Given the description of an element on the screen output the (x, y) to click on. 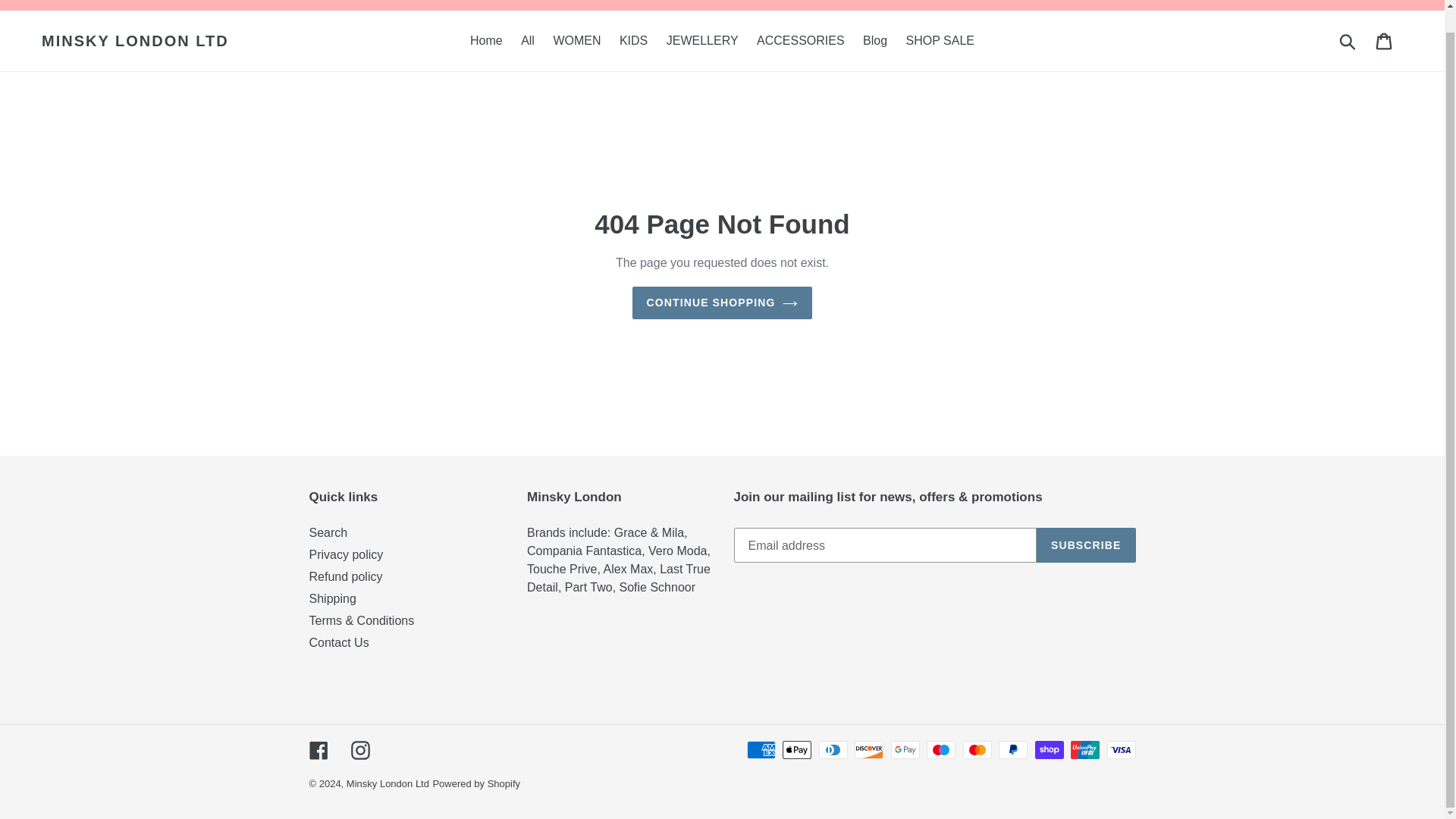
SUBSCRIBE (1085, 544)
Submit (1348, 40)
Blog (875, 40)
Shipping (332, 598)
KIDS (633, 40)
Facebook (318, 749)
Refund policy (345, 576)
MINSKY LONDON LTD (135, 40)
Contact Us (338, 642)
SHOP SALE (939, 40)
